Given the description of an element on the screen output the (x, y) to click on. 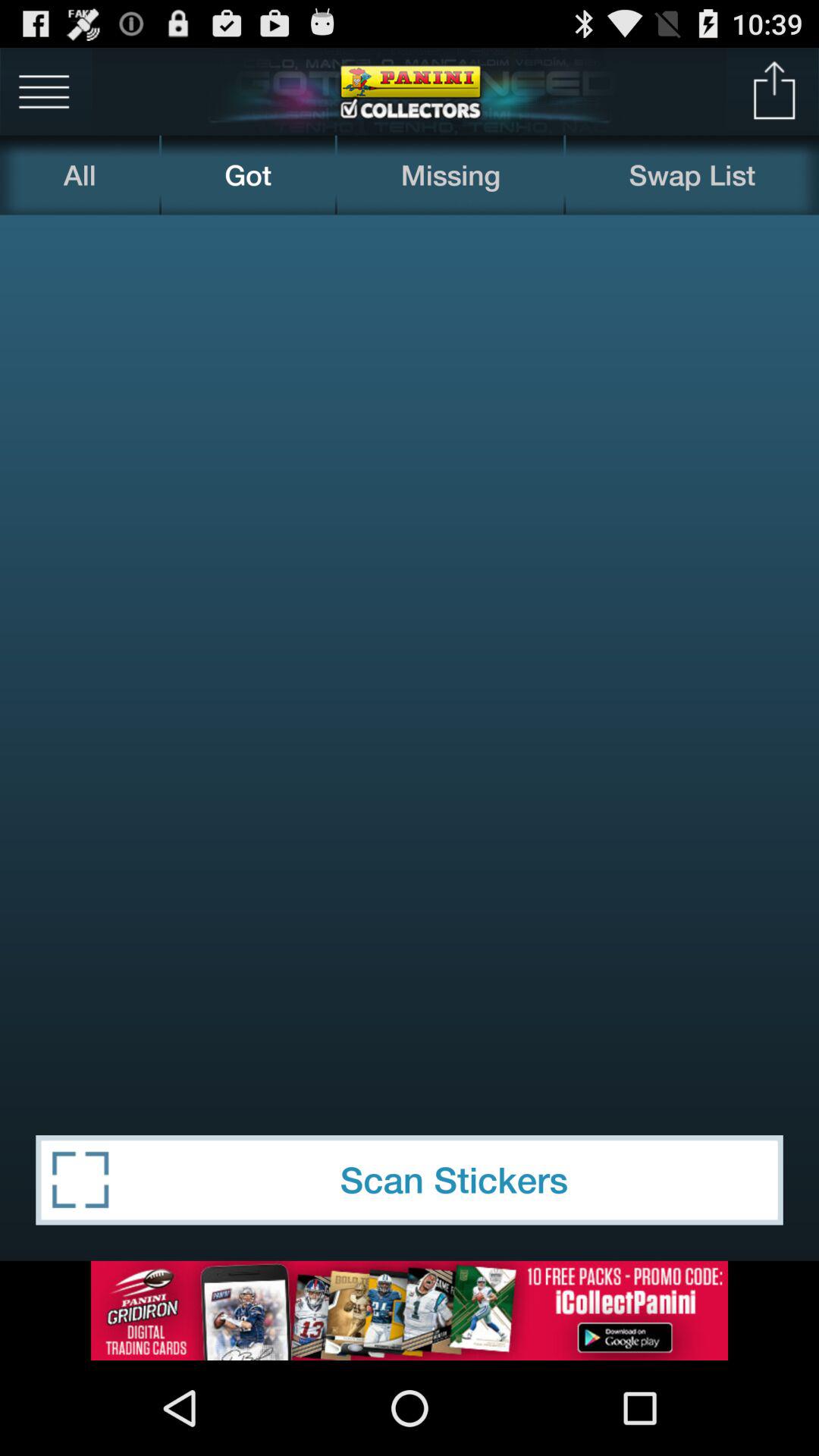
jump until the swap list item (692, 174)
